Given the description of an element on the screen output the (x, y) to click on. 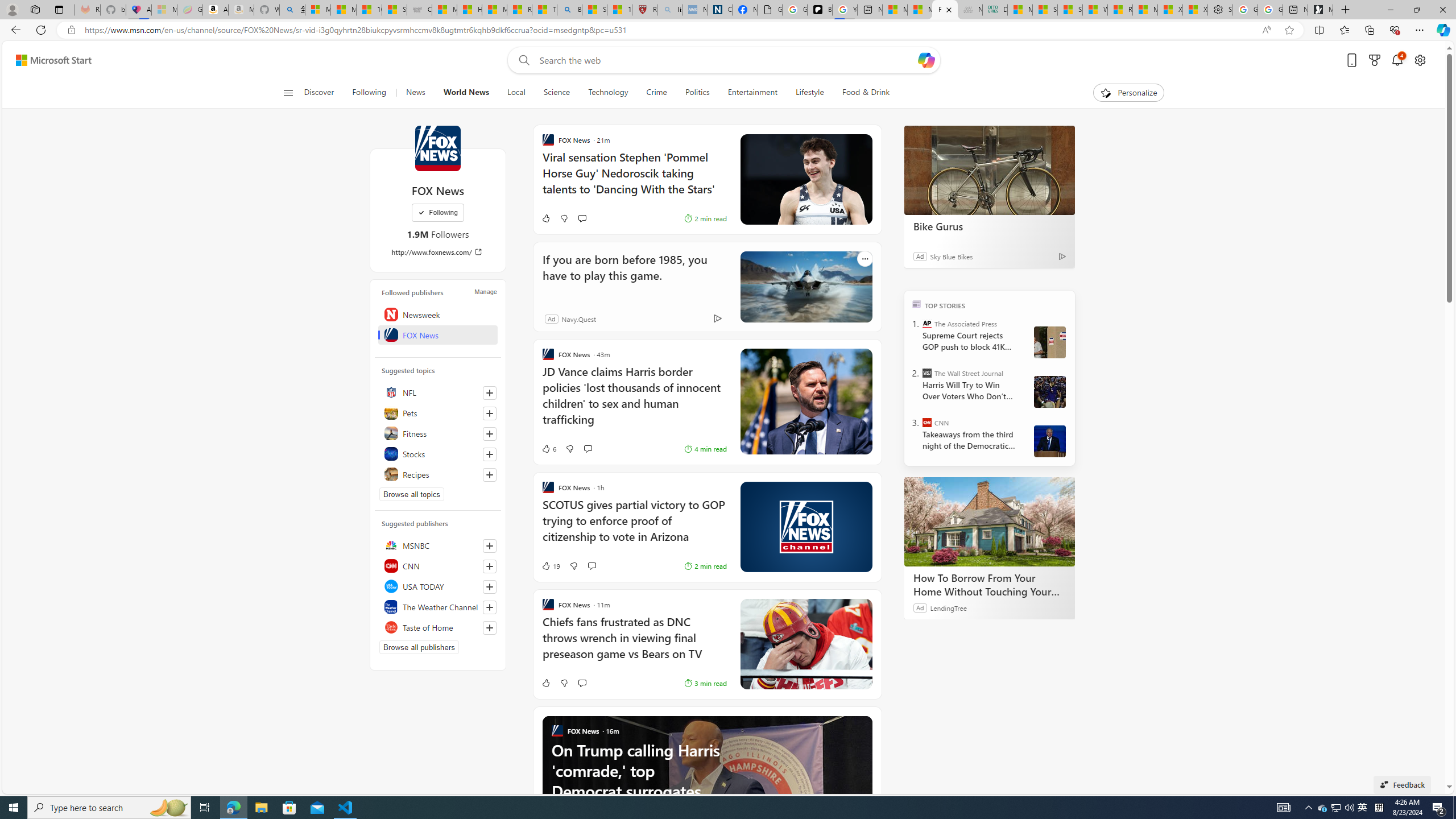
CNN (927, 422)
Stocks (437, 453)
MSNBC (437, 545)
FOX News - MSN (944, 9)
